Given the description of an element on the screen output the (x, y) to click on. 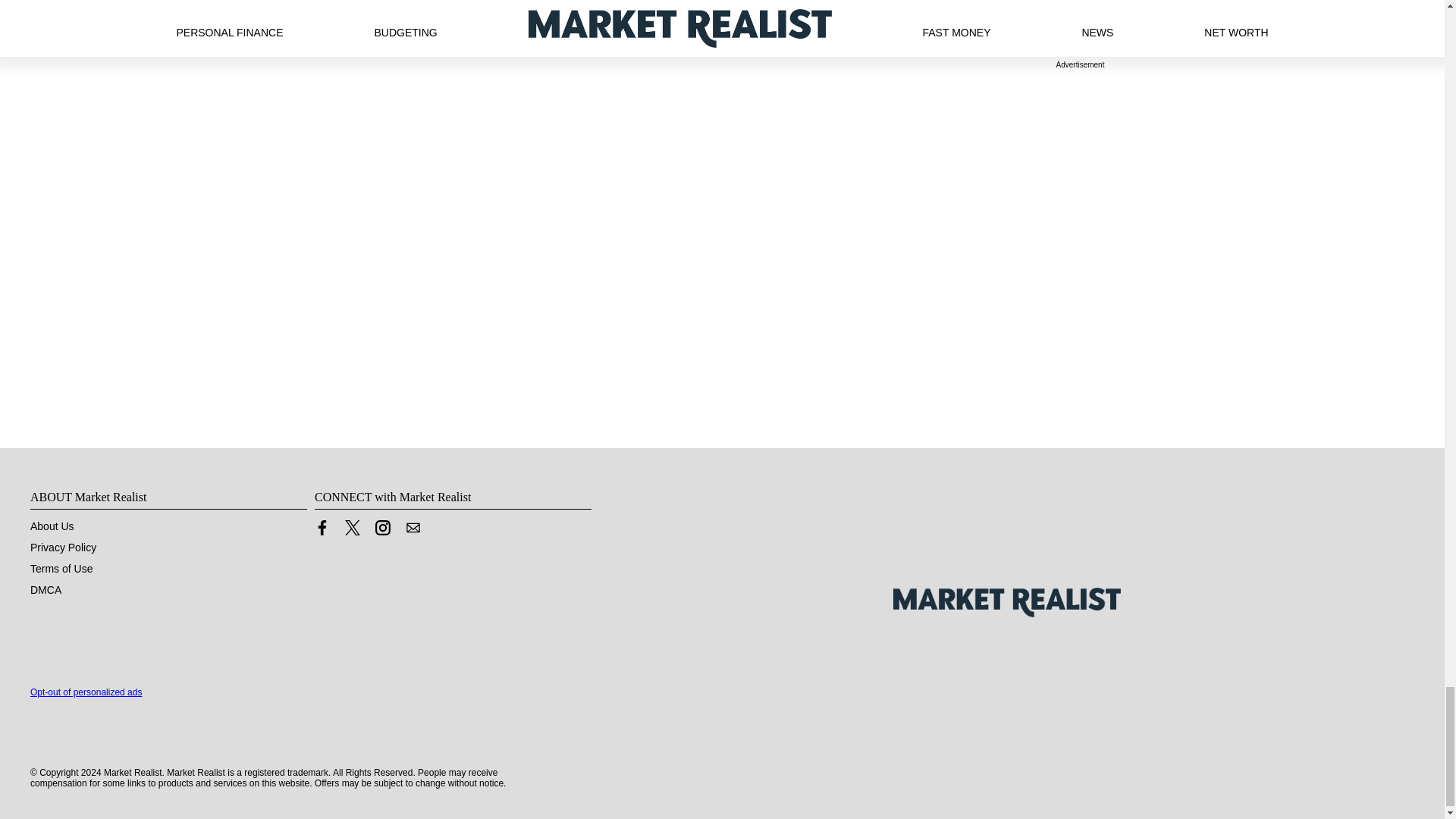
Link to Facebook (322, 527)
Link to X (352, 527)
Contact us by Email (413, 527)
DMCA (45, 589)
About Us (52, 526)
Link to X (352, 531)
About Us (52, 526)
Terms of Use (61, 568)
Link to Facebook (322, 531)
Terms of Use (61, 568)
Privacy Policy (63, 547)
Link to Instagram (382, 527)
Opt-out of personalized ads (85, 692)
Link to Instagram (382, 531)
Privacy Policy (63, 547)
